Given the description of an element on the screen output the (x, y) to click on. 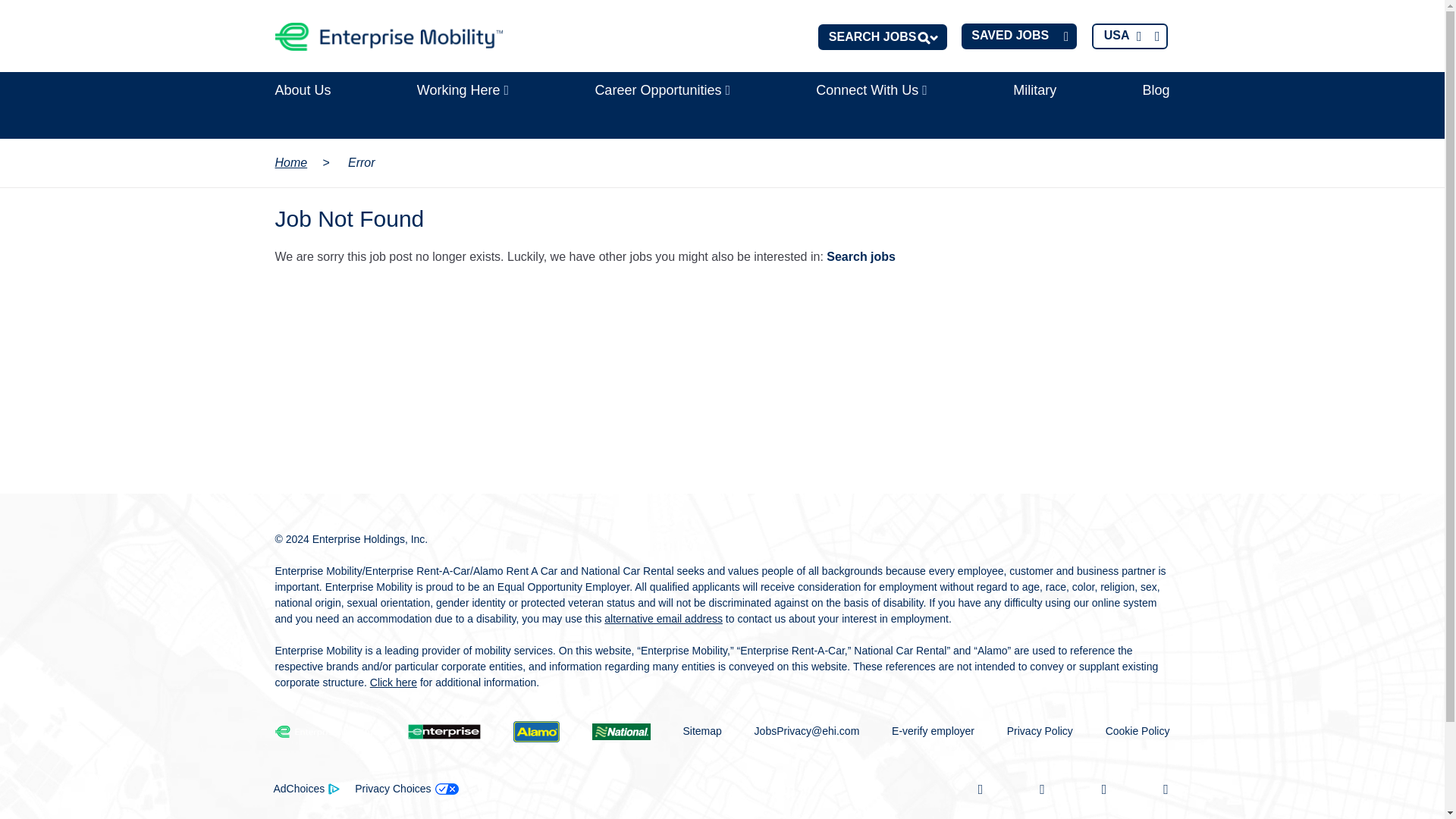
Connect With Us  (871, 90)
About Us (301, 90)
SAVED JOBS (1018, 36)
Home (388, 36)
SEARCH JOBS (882, 36)
Career Opportunities  (662, 90)
USA (1129, 36)
Working Here  (462, 90)
